Given the description of an element on the screen output the (x, y) to click on. 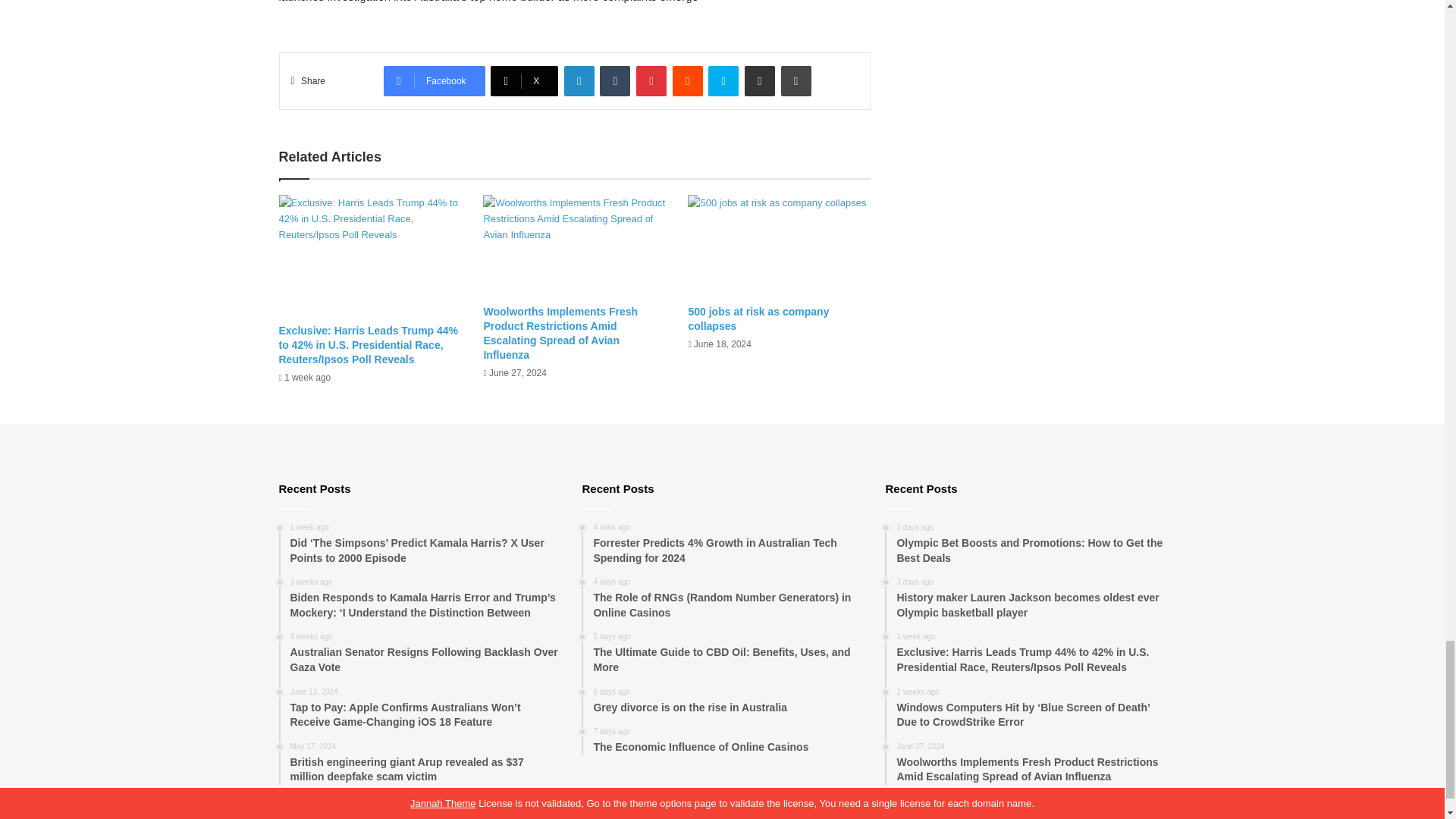
Pinterest (651, 81)
Pinterest (651, 81)
Reddit (687, 81)
Reddit (687, 81)
LinkedIn (579, 81)
X (523, 81)
Tumblr (614, 81)
LinkedIn (579, 81)
Skype (722, 81)
Facebook (434, 81)
Tumblr (614, 81)
Facebook (434, 81)
Skype (722, 81)
X (523, 81)
